Given the description of an element on the screen output the (x, y) to click on. 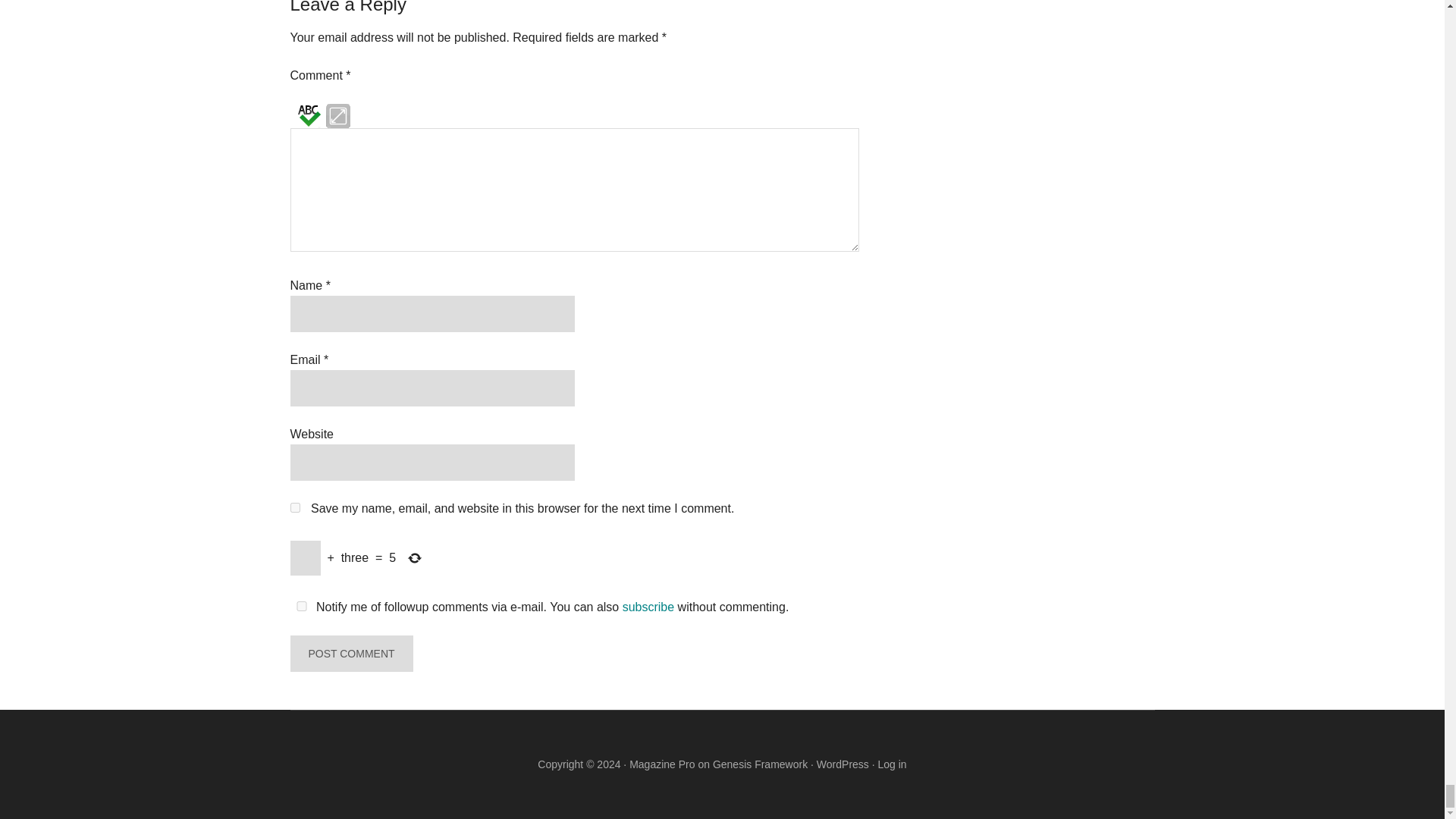
yes (301, 605)
Post Comment (350, 653)
yes (294, 507)
